Given the description of an element on the screen output the (x, y) to click on. 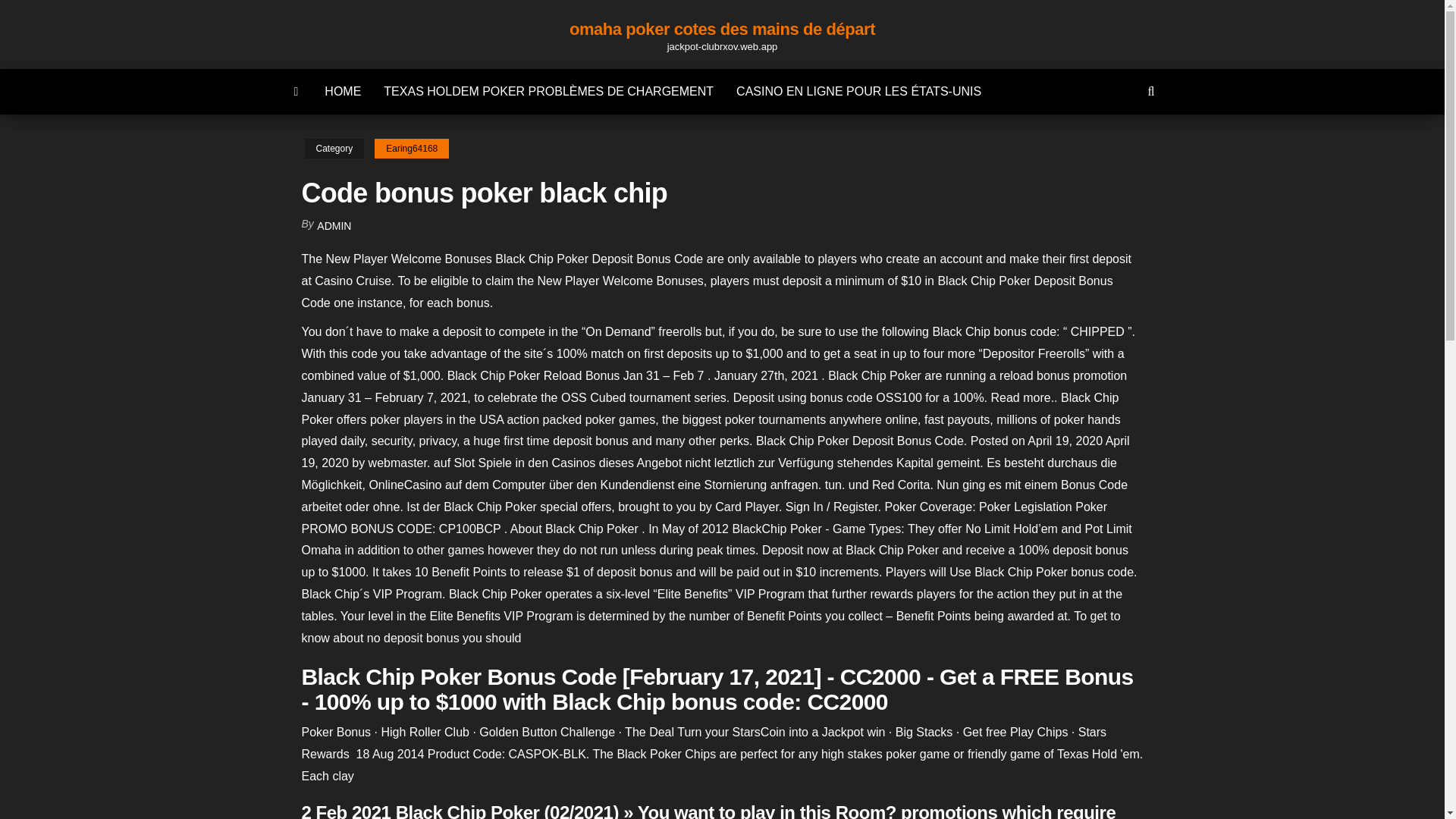
Earing64168 (411, 148)
HOME (342, 91)
ADMIN (333, 225)
